Given the description of an element on the screen output the (x, y) to click on. 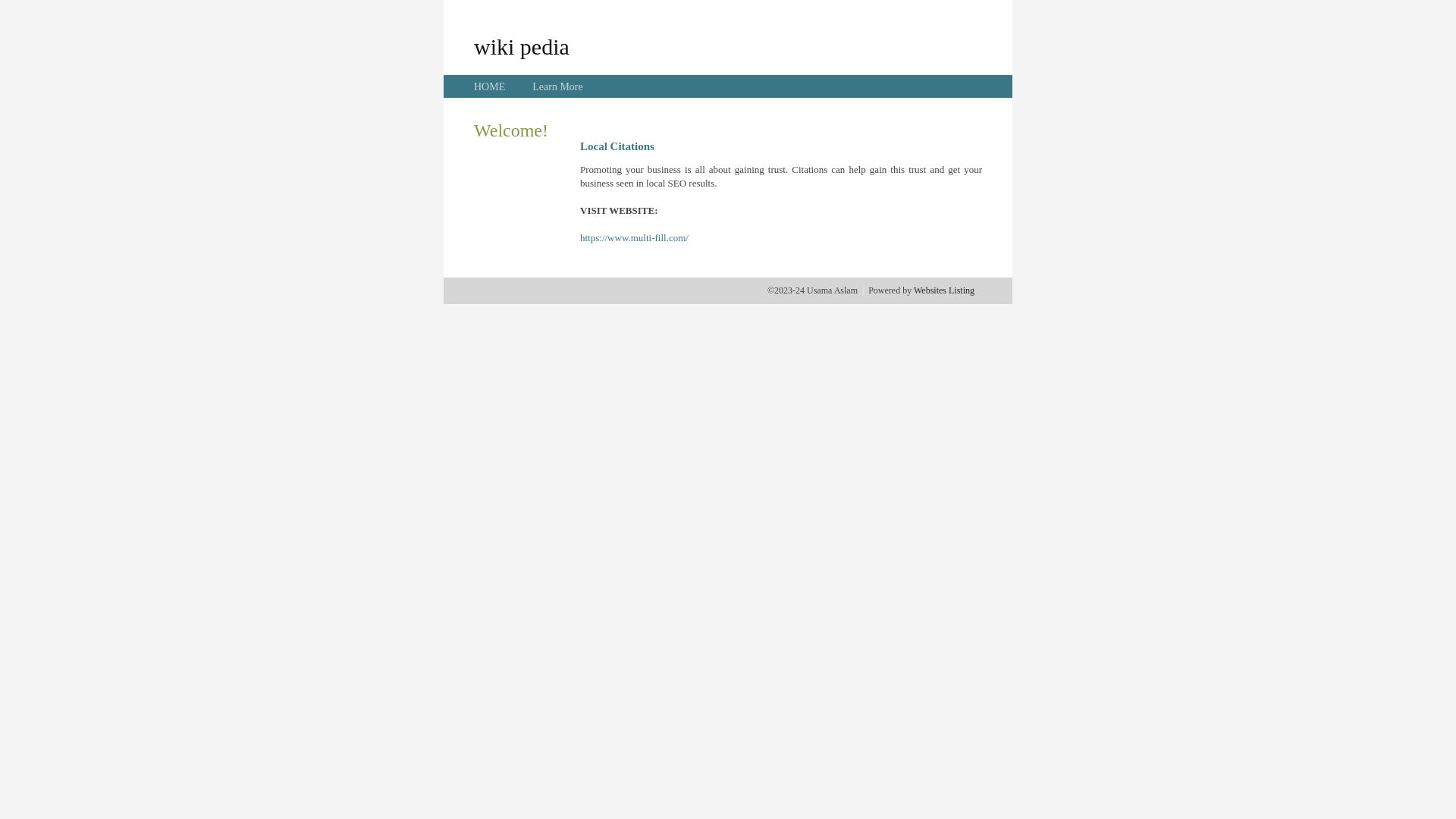
Learn More Element type: text (557, 86)
wiki pedia Element type: text (521, 46)
HOME Element type: text (489, 86)
https://www.multi-fill.com/ Element type: text (634, 237)
Websites Listing Element type: text (943, 290)
